Given the description of an element on the screen output the (x, y) to click on. 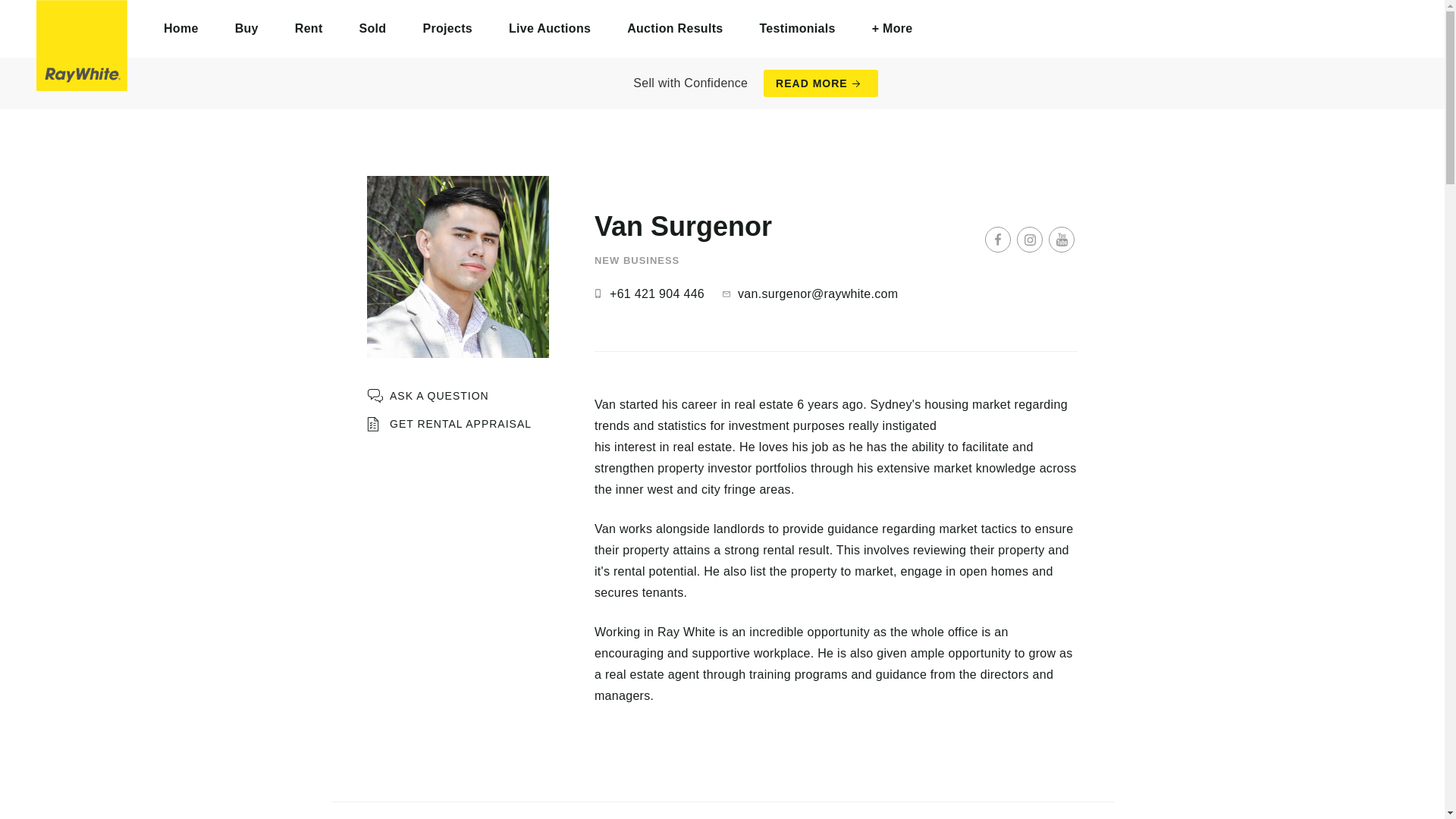
Testimonials (797, 28)
GET RENTAL APPRAISAL (448, 424)
Home (180, 28)
Ray White Surry Hills (82, 45)
Youtube (1061, 239)
ASK A QUESTION (427, 396)
Facebook (997, 239)
Instagram (1029, 239)
READ MORE (819, 83)
Auction Results (674, 28)
